Given the description of an element on the screen output the (x, y) to click on. 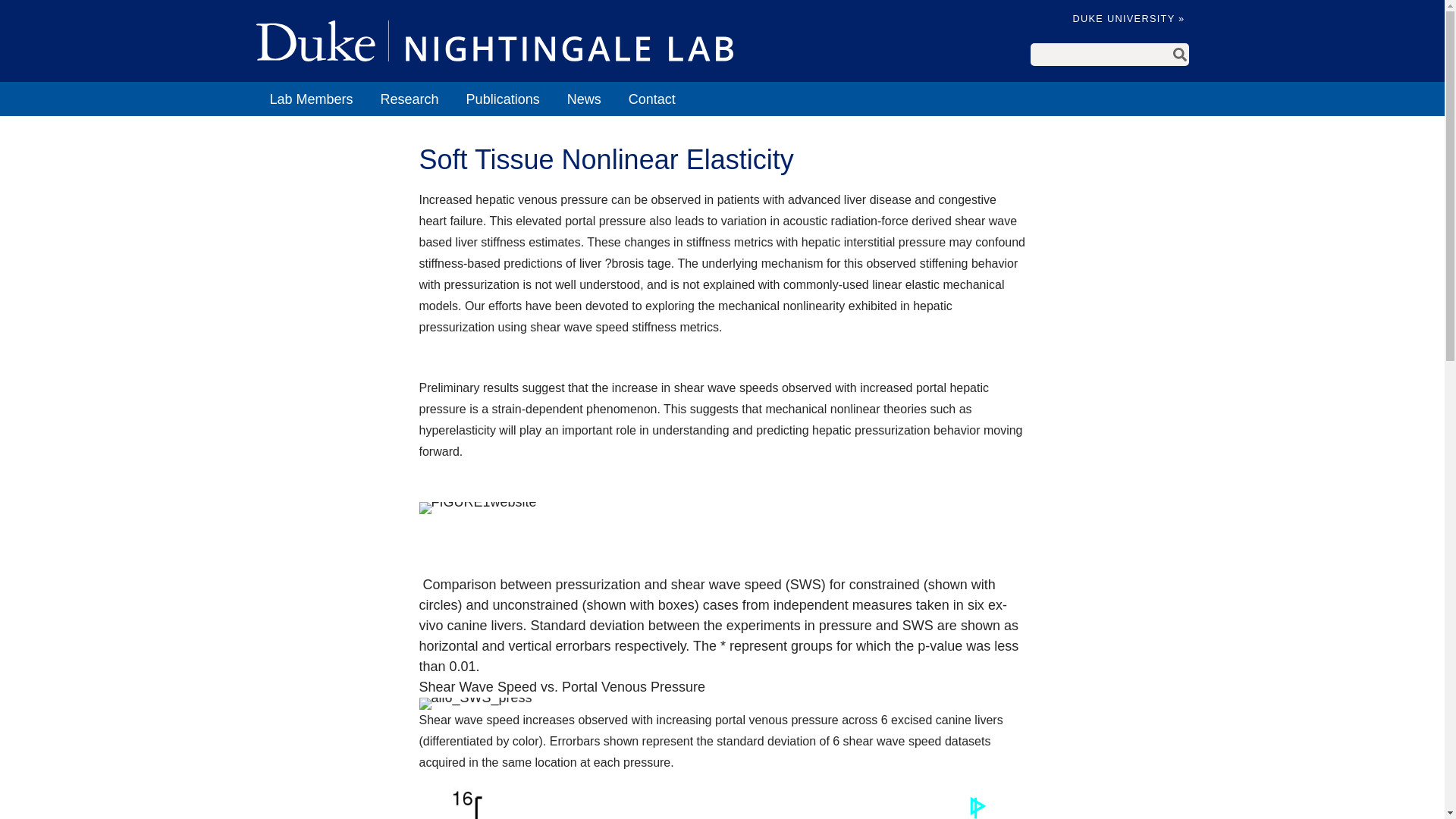
Enter the terms you wish to search for. (1100, 54)
Research (409, 98)
Search (1179, 54)
Contact (651, 98)
Lab Members (311, 98)
Publications (502, 98)
News (583, 98)
